Given the description of an element on the screen output the (x, y) to click on. 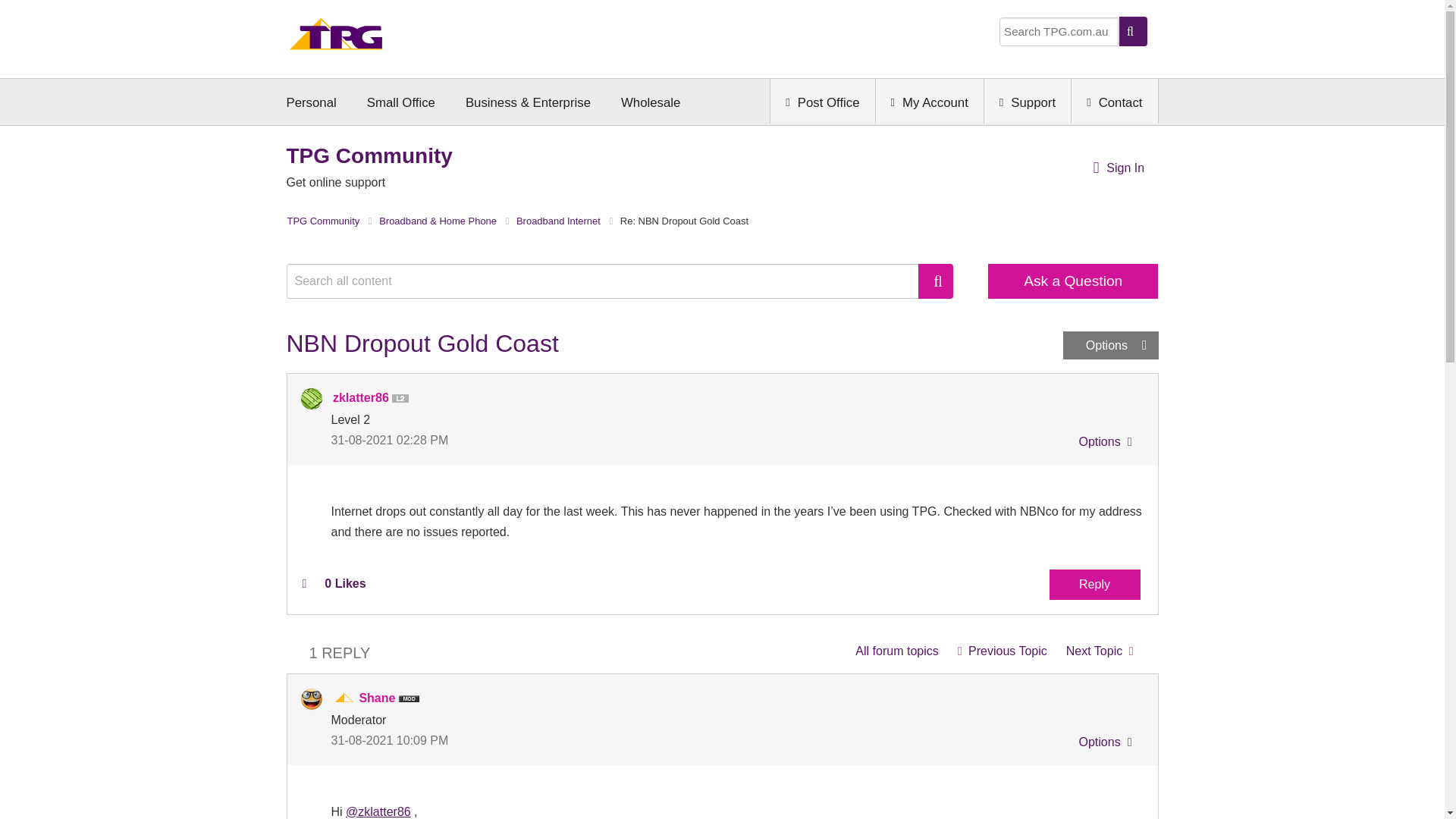
Show option menu (1110, 345)
waiting to be automatically configured (1099, 650)
Search (610, 280)
Search (935, 280)
Search (935, 280)
Level 2 (402, 398)
Shane (310, 699)
Posted on (526, 439)
Home (335, 38)
Moderator (344, 698)
